Given the description of an element on the screen output the (x, y) to click on. 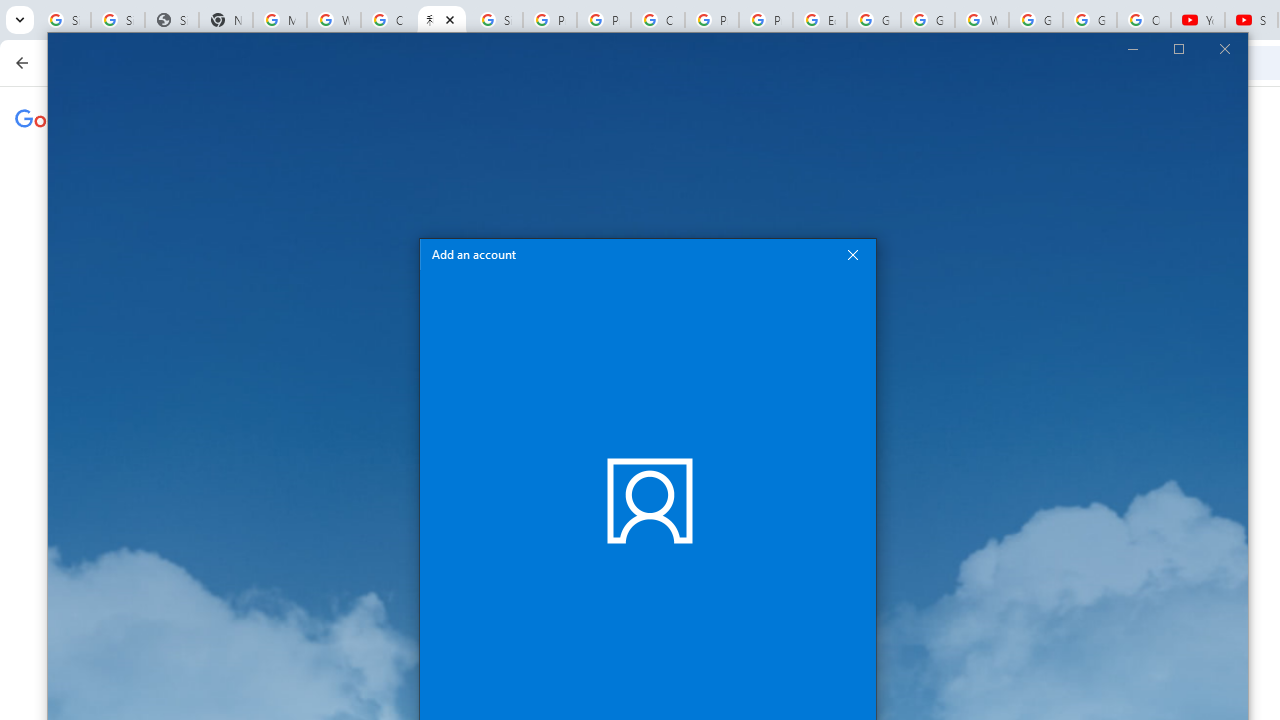
Close Mail (1224, 48)
Maximize Mail (1178, 48)
Minimize Mail (1132, 48)
Close Add an account (852, 254)
